Given the description of an element on the screen output the (x, y) to click on. 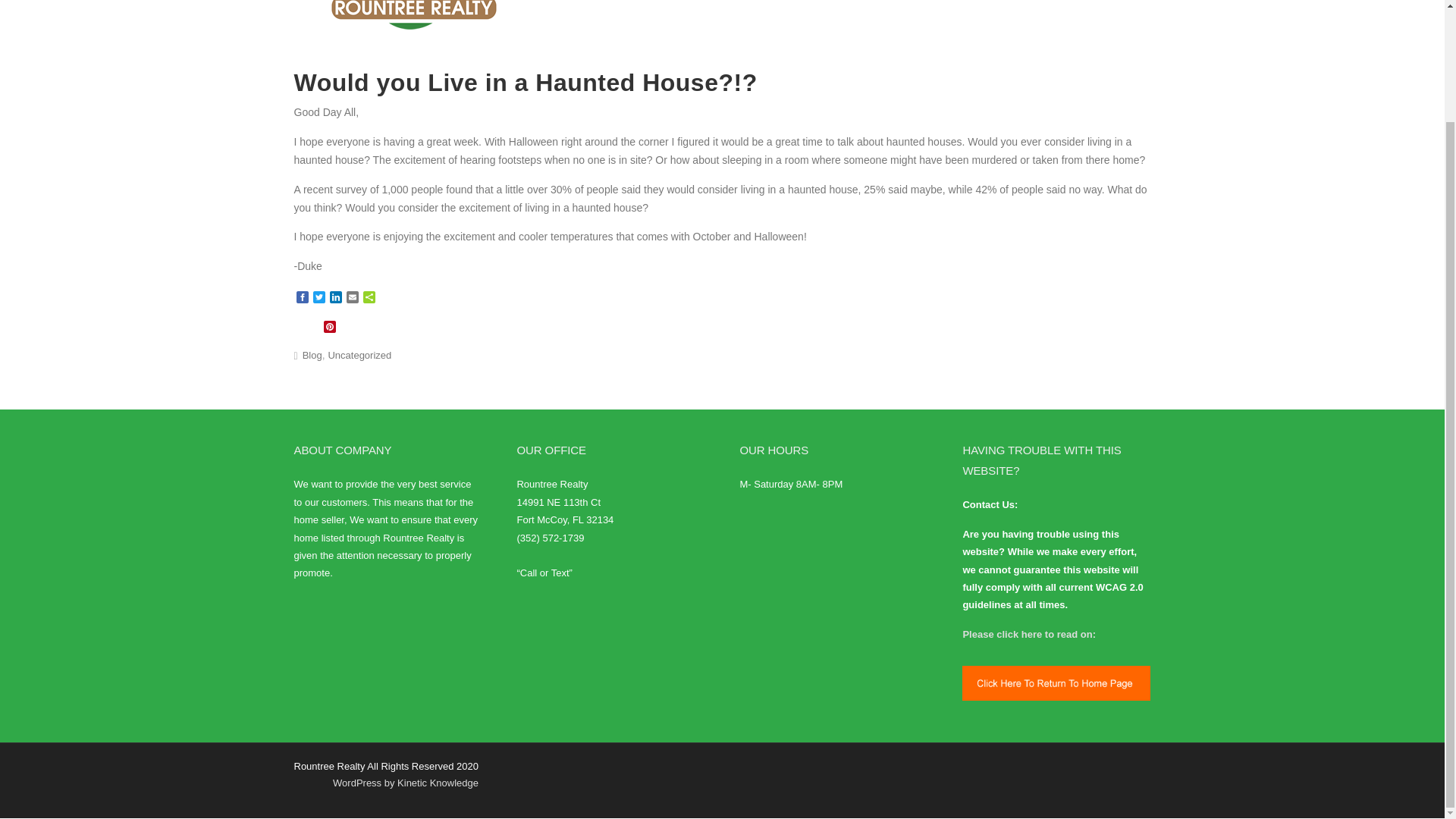
MORE (1128, 13)
LISTINGS (882, 13)
Uncategorized (359, 355)
Blog (311, 355)
WordPress by Kinetic Knowledge (406, 782)
SEARCH (955, 13)
BLOG (1076, 13)
TEAM (1019, 13)
Please click here to read on: (1029, 633)
